Given the description of an element on the screen output the (x, y) to click on. 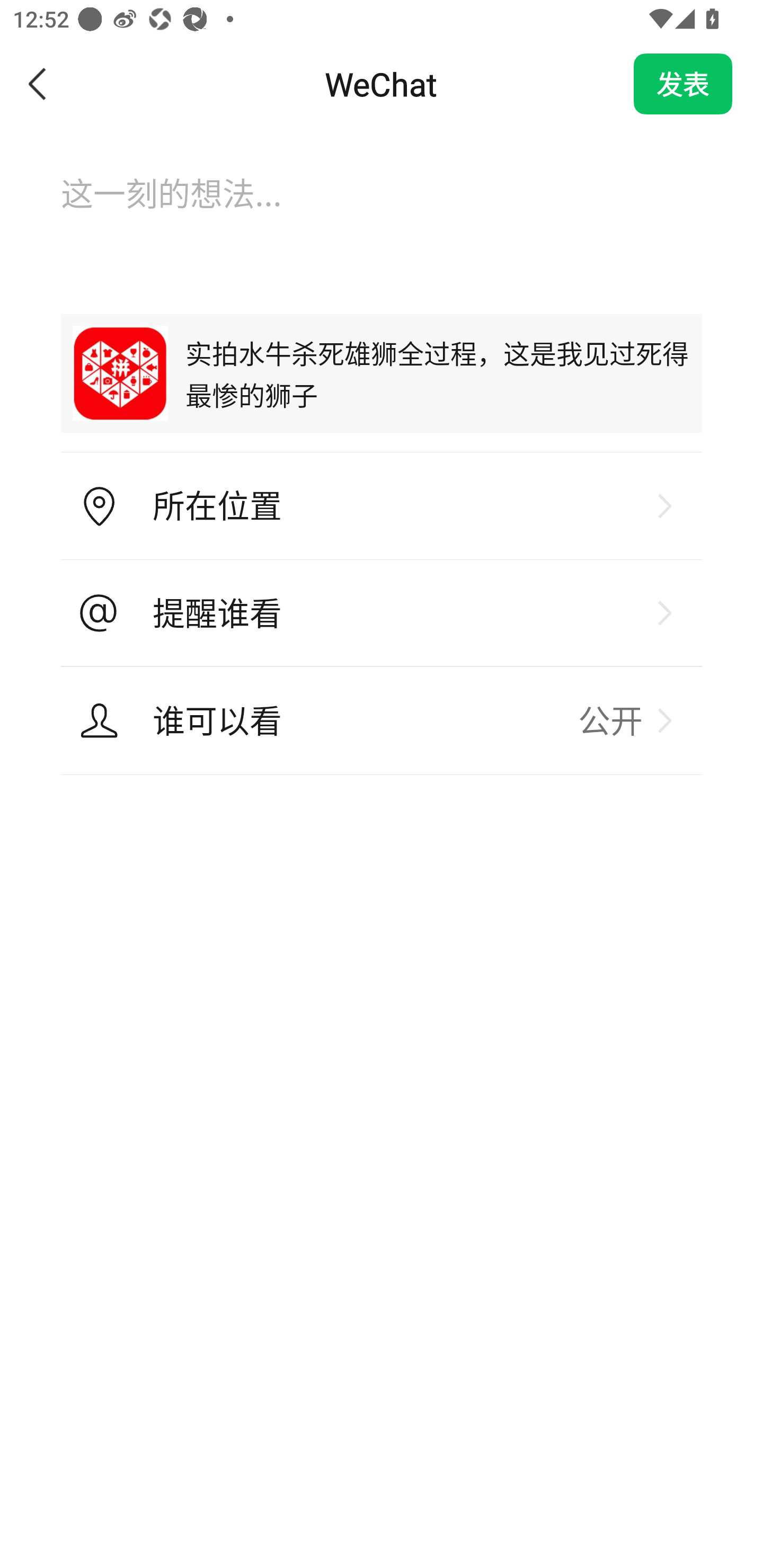
返回 (38, 83)
发表 (683, 83)
这一刻的想法... (381, 211)
实拍水牛杀死雄狮全过程，这是我见过死得最惨的狮子 (381, 372)
所在位置 (381, 506)
提醒谁看  提醒谁看 (381, 612)
谁可以看 公开 (381, 720)
